Given the description of an element on the screen output the (x, y) to click on. 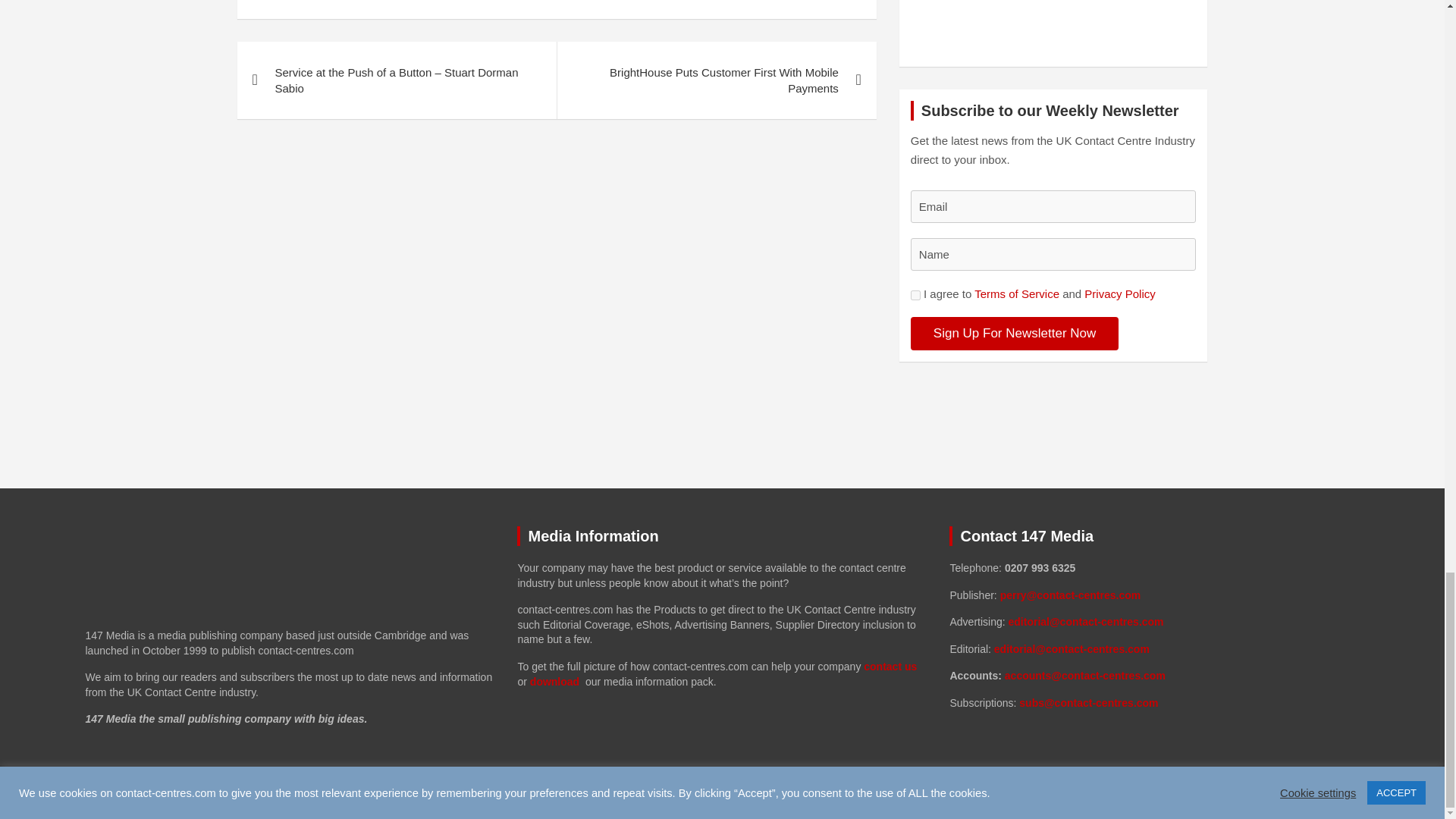
contact-centres.com (228, 791)
1 (915, 295)
Sign Up For Newsletter Now (1014, 333)
Email (1053, 206)
Name (1053, 254)
Shift-click to edit this widget. (1153, 636)
